Given the description of an element on the screen output the (x, y) to click on. 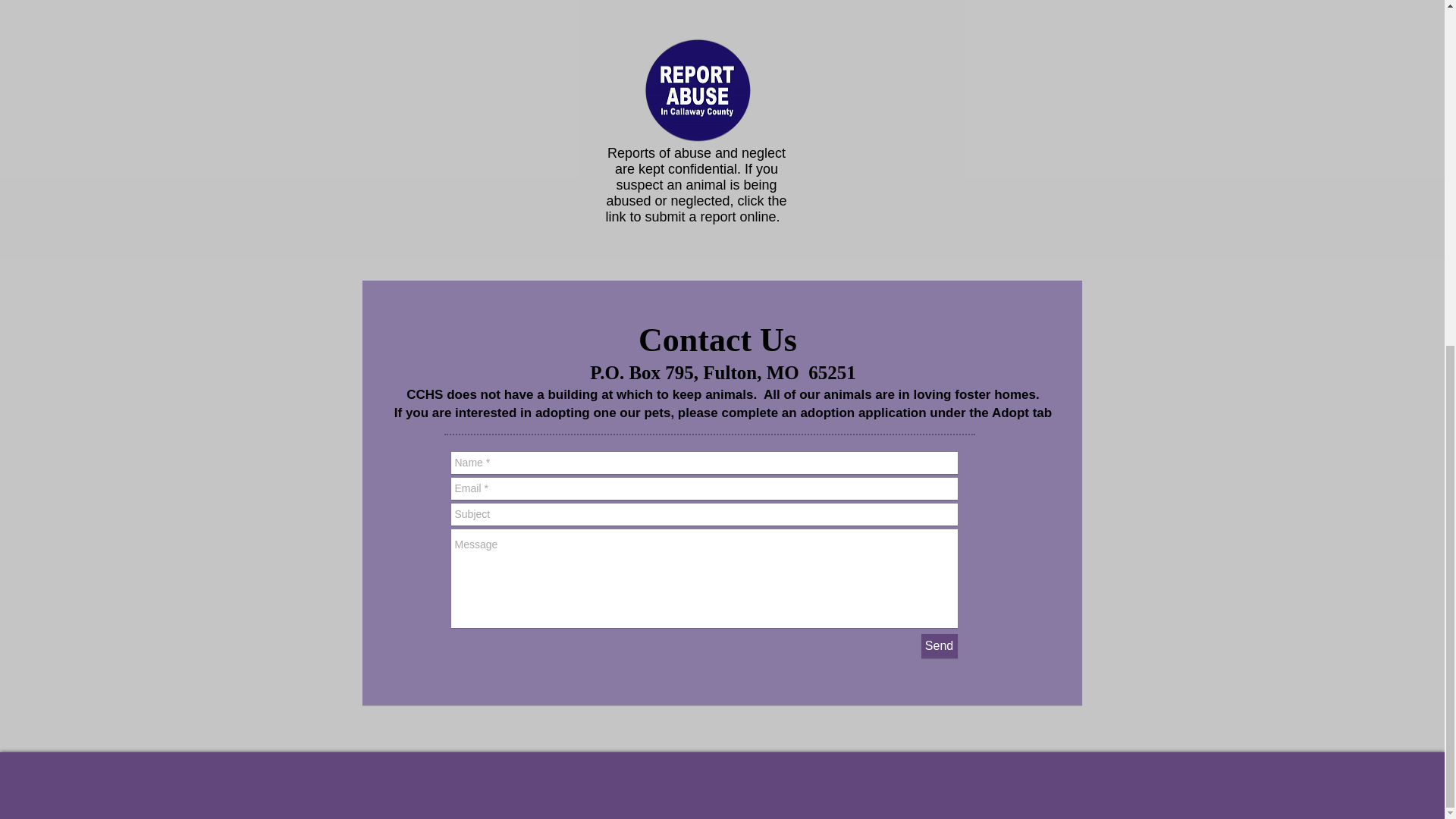
Send (938, 645)
